Given the description of an element on the screen output the (x, y) to click on. 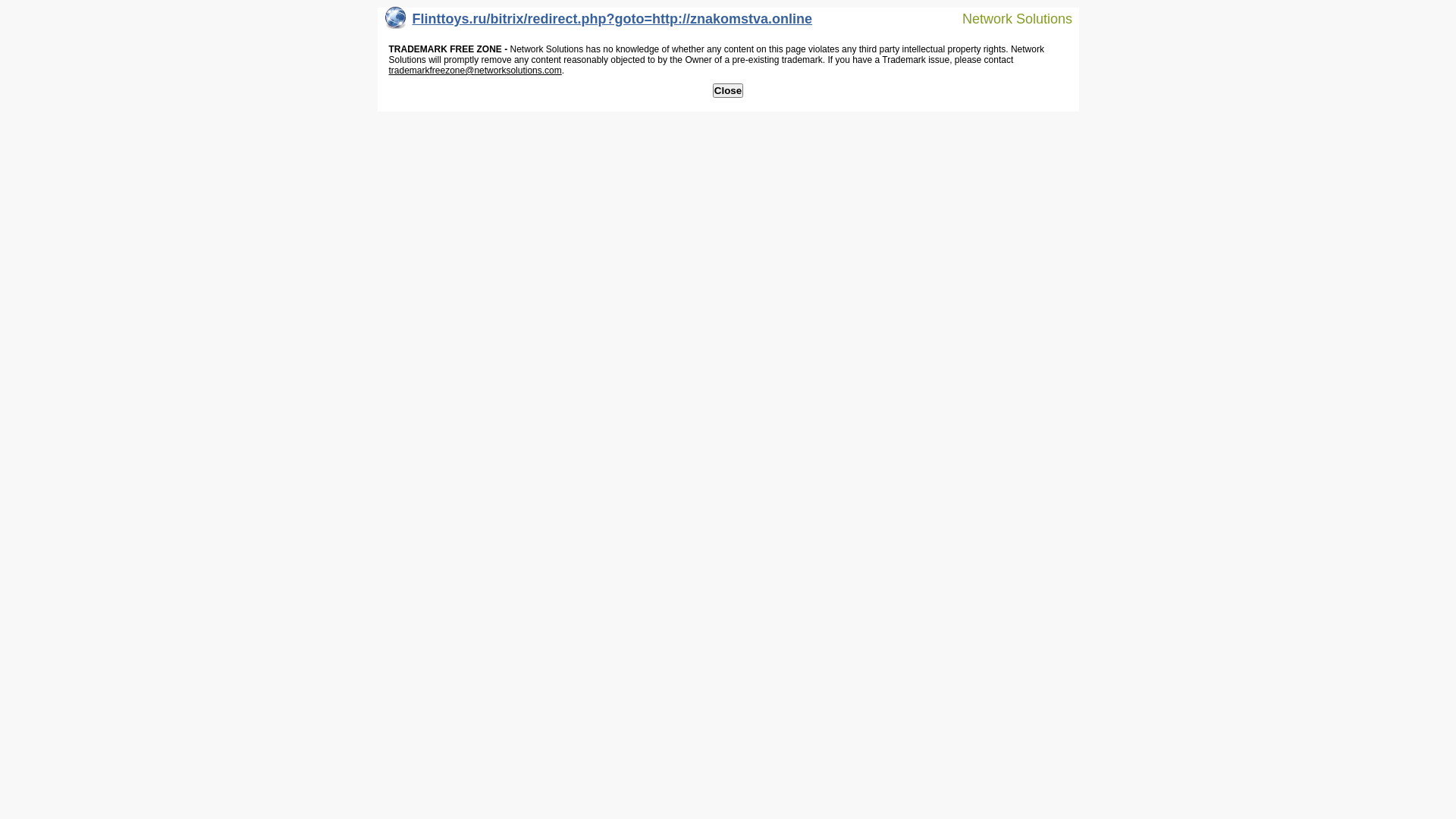
Network Solutions Element type: text (1007, 17)
trademarkfreezone@networksolutions.com Element type: text (474, 70)
Close Element type: text (727, 90)
